Given the description of an element on the screen output the (x, y) to click on. 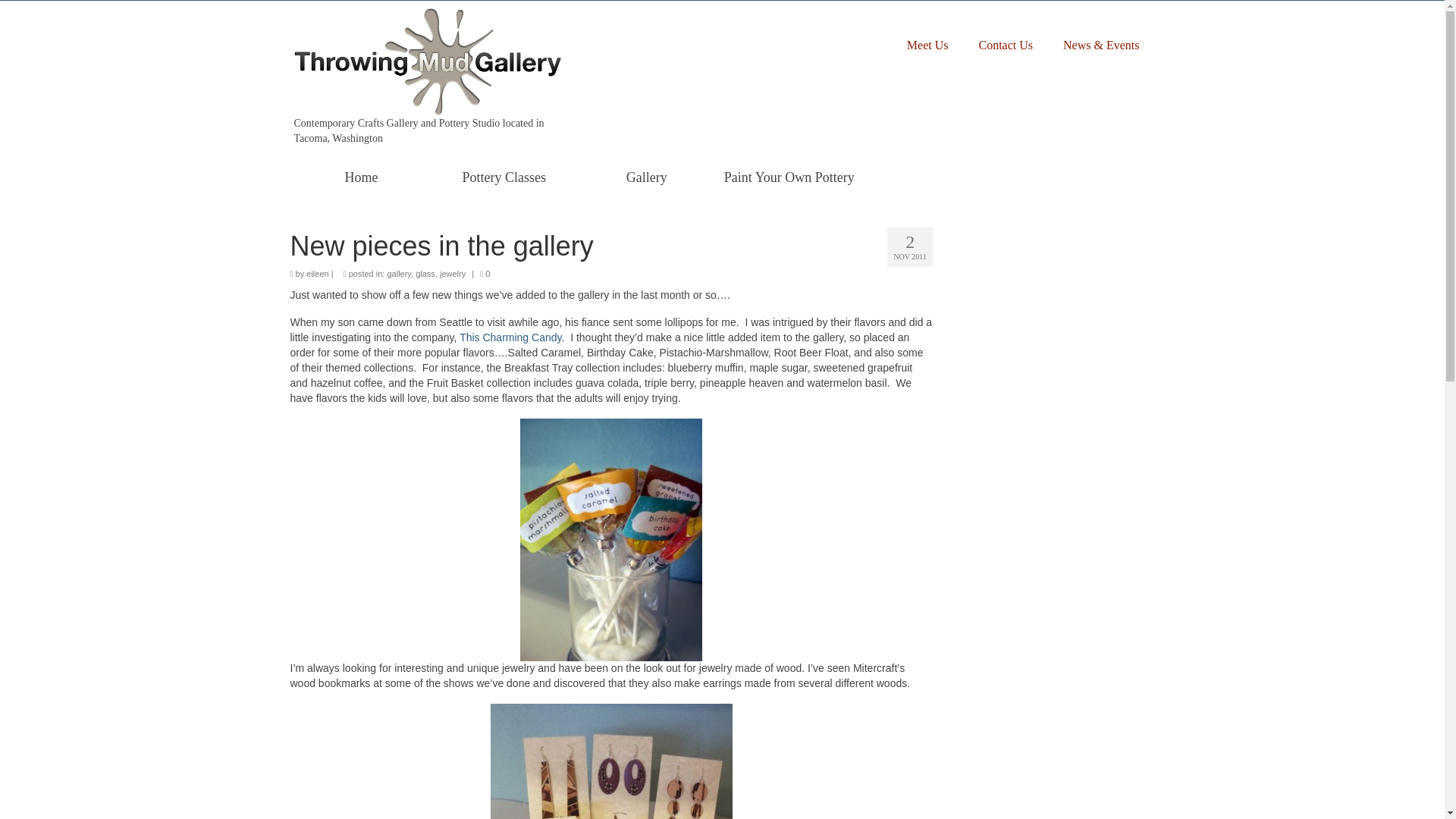
Pottery Classes (503, 177)
Paint Your Own Pottery (788, 177)
Contact Us (1005, 45)
Meet Us (927, 45)
Home (360, 177)
Gallery (646, 177)
